Given the description of an element on the screen output the (x, y) to click on. 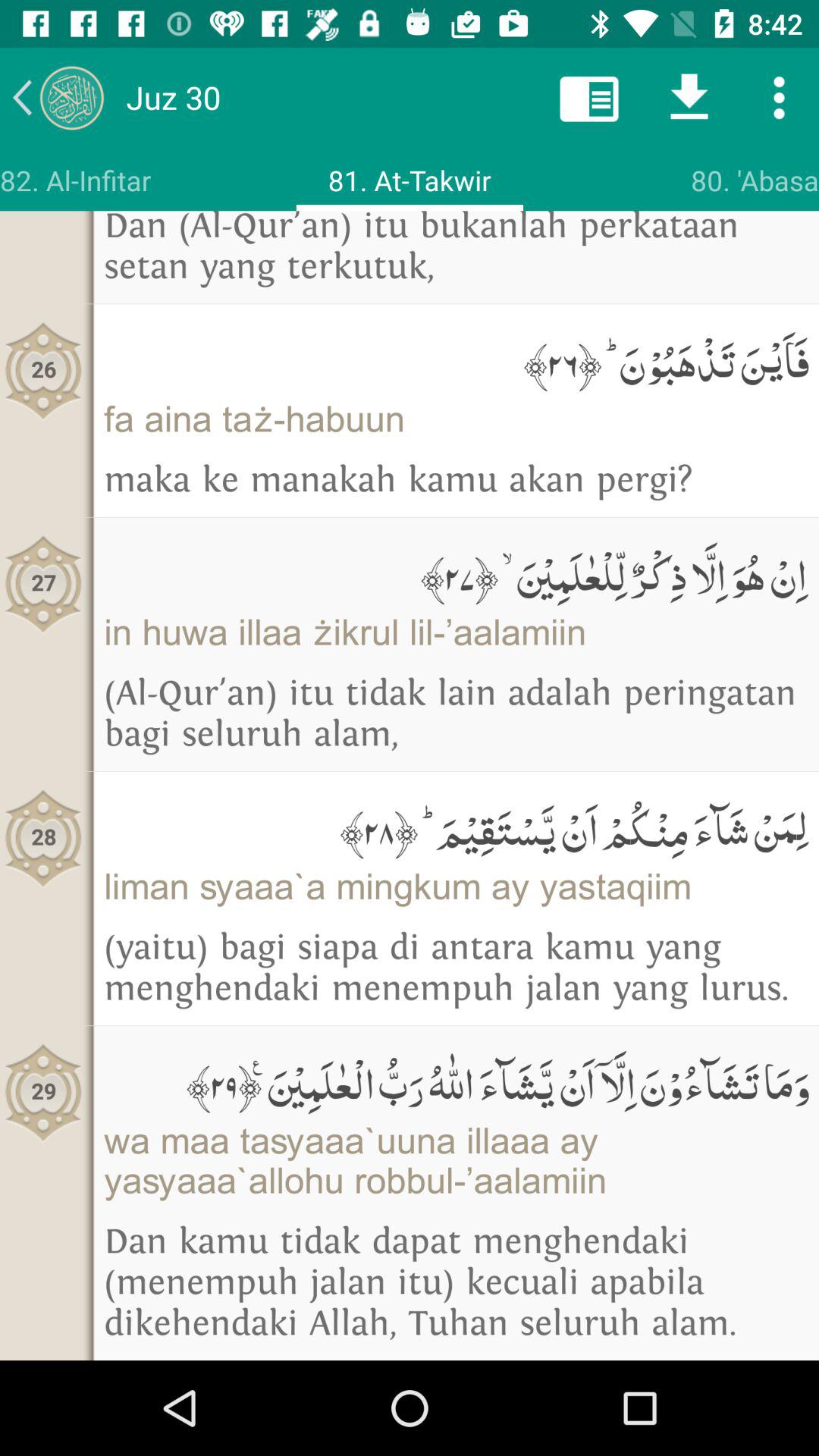
tap to download (689, 97)
